Given the description of an element on the screen output the (x, y) to click on. 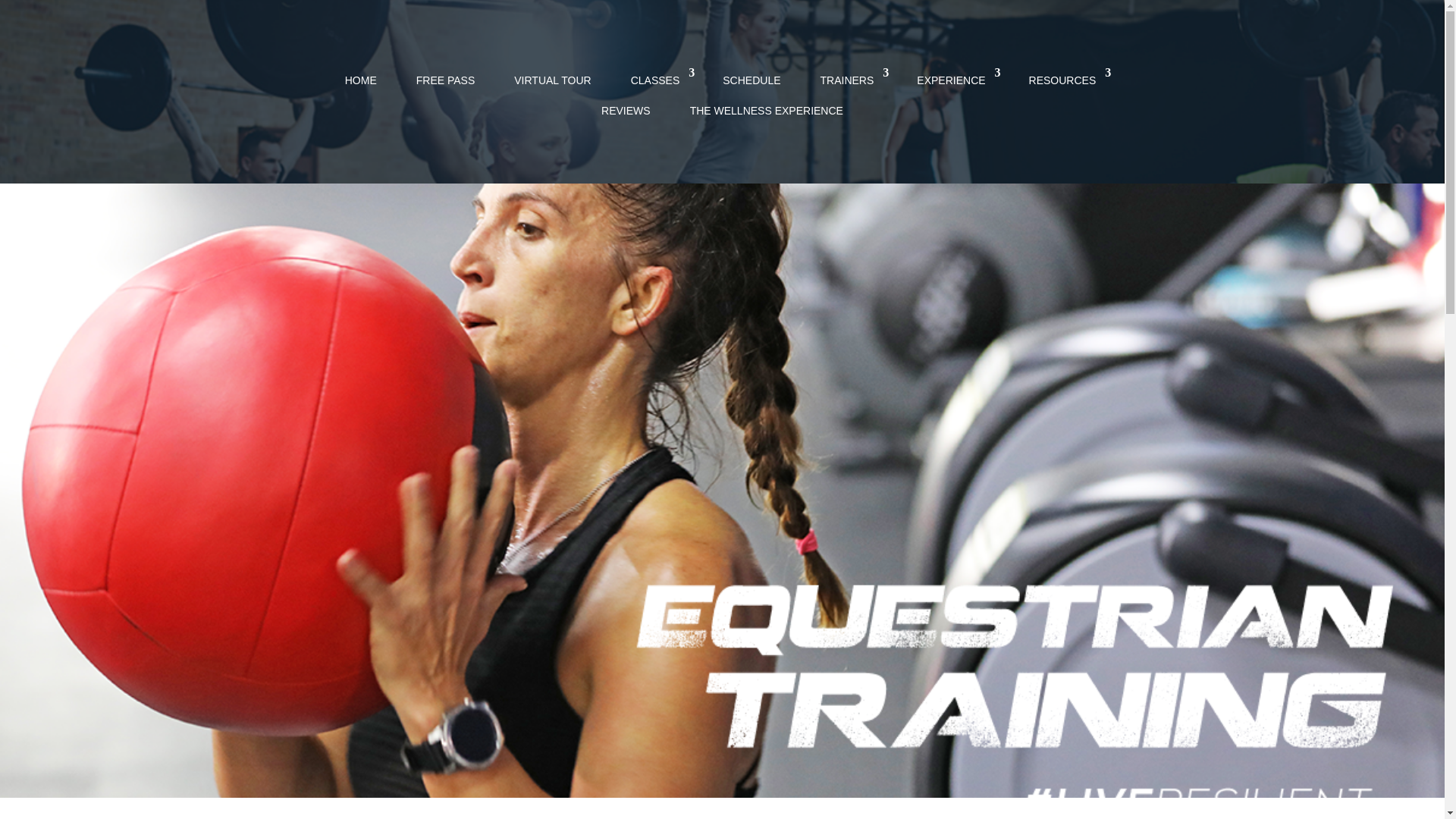
REVIEWS (625, 109)
FREE PASS (445, 79)
CLASSES (657, 79)
RESOURCES (1064, 79)
VIRTUAL TOUR (552, 79)
TRAINERS (849, 79)
HOME (360, 79)
EXPERIENCE (952, 79)
SCHEDULE (751, 79)
THE WELLNESS EXPERIENCE (766, 109)
